Given the description of an element on the screen output the (x, y) to click on. 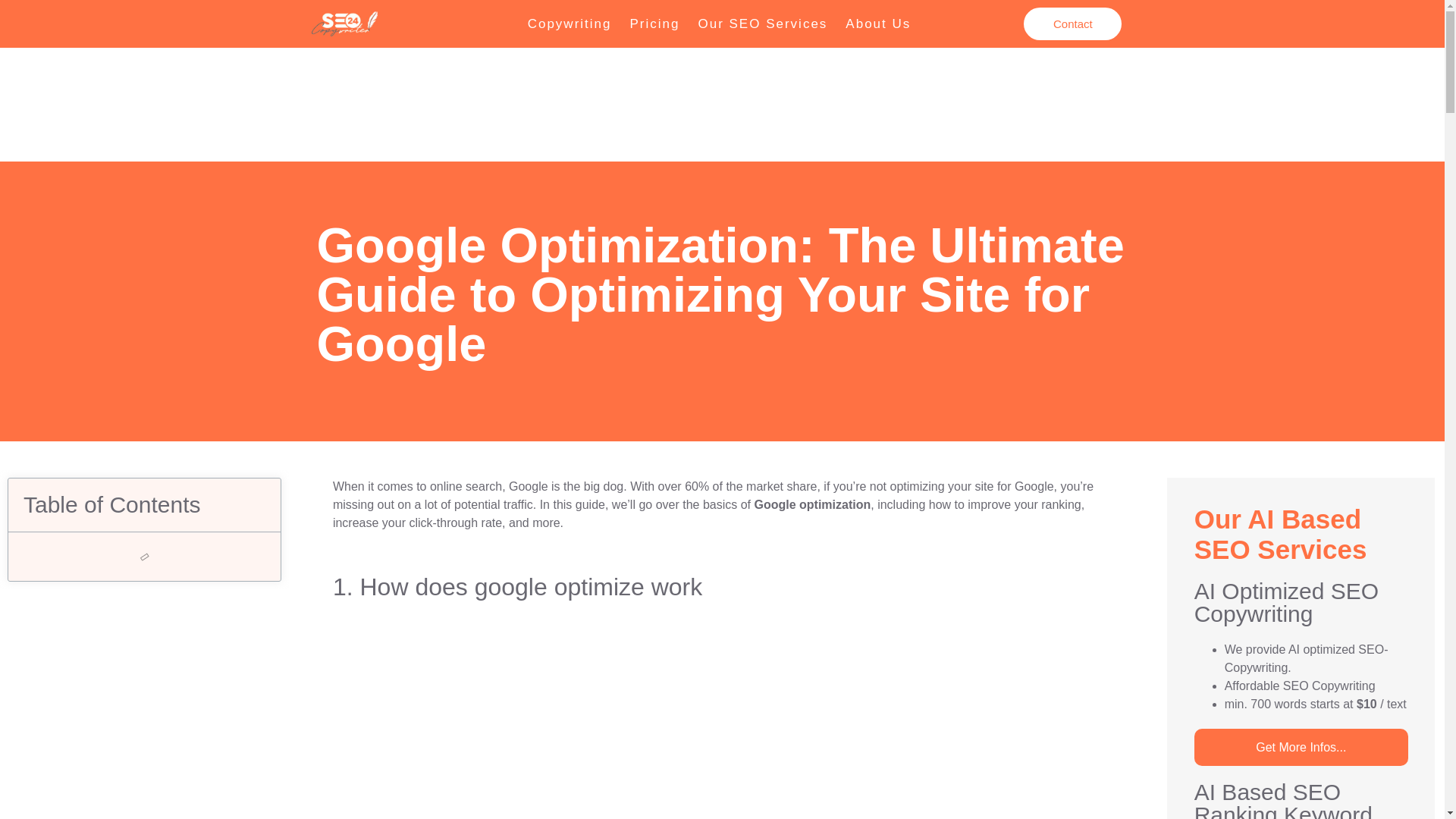
Our SEO Services (761, 23)
   Contact    (1072, 23)
Get More Infos... (1300, 746)
Copywriting (569, 23)
Pricing (654, 23)
About Us (877, 23)
